Given the description of an element on the screen output the (x, y) to click on. 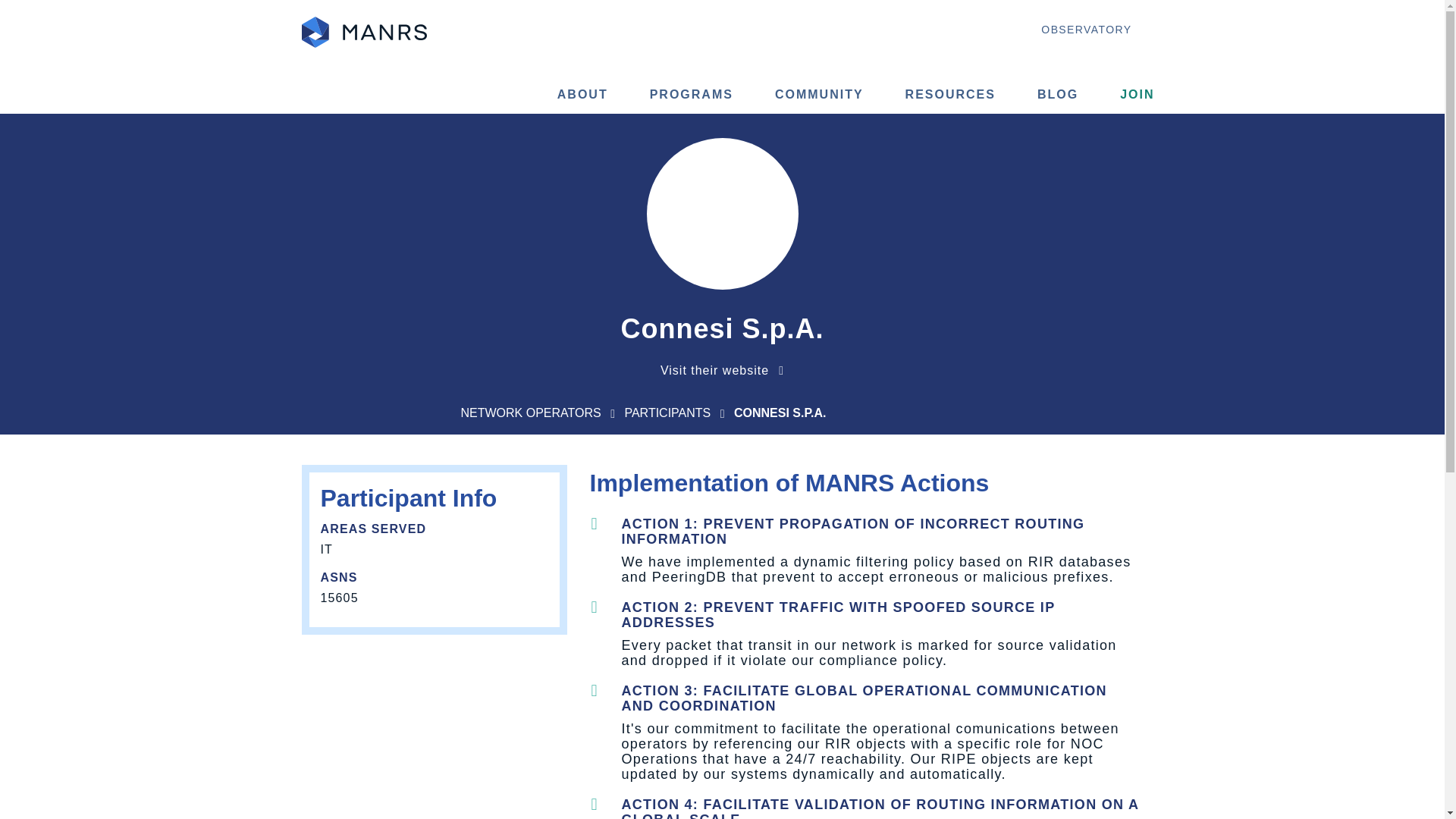
RESOURCES (949, 95)
COMMUNITY (819, 95)
MANRS (363, 32)
ABOUT (582, 95)
PROGRAMS (691, 95)
